Given the description of an element on the screen output the (x, y) to click on. 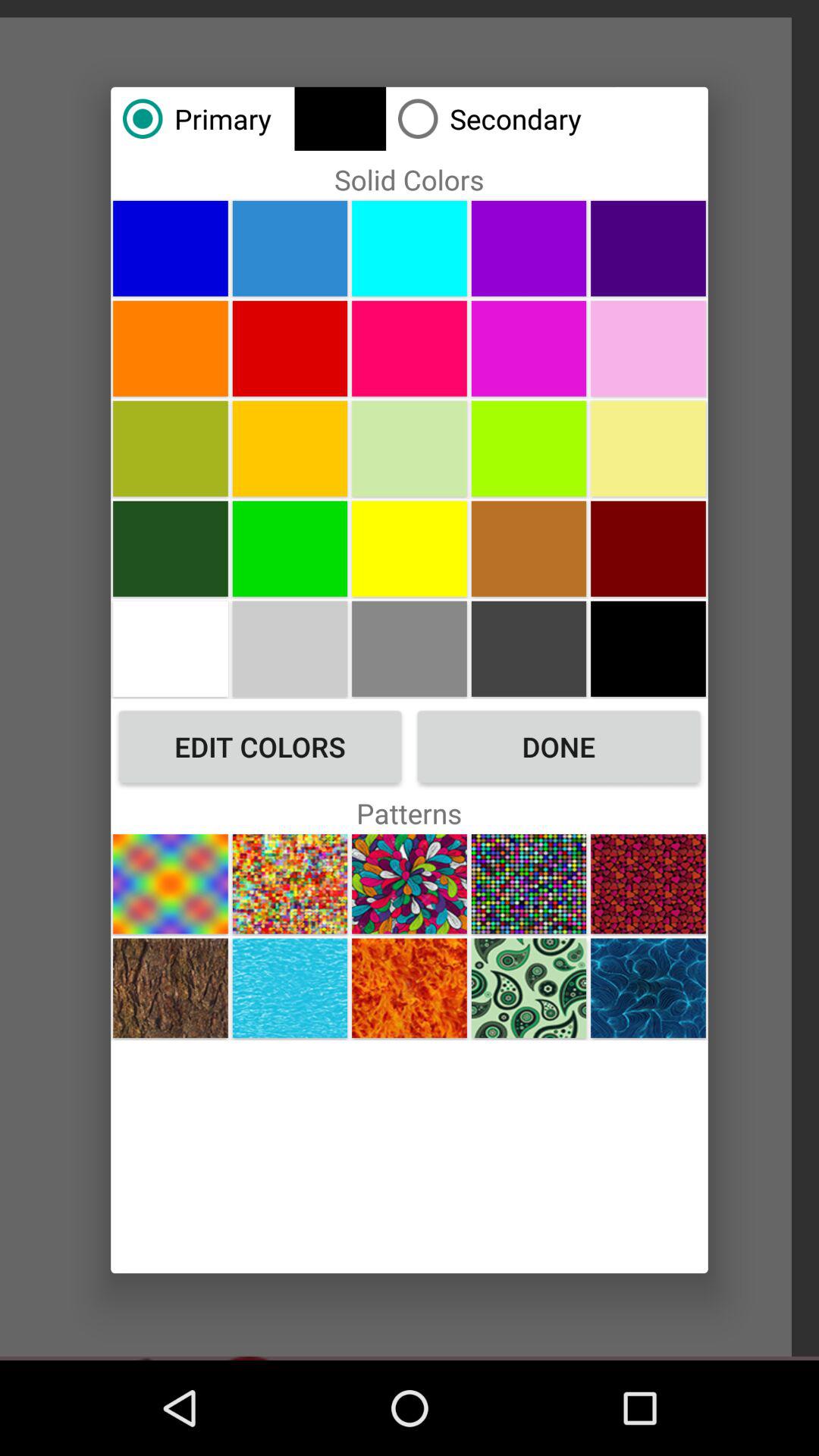
pale green color (170, 448)
